Given the description of an element on the screen output the (x, y) to click on. 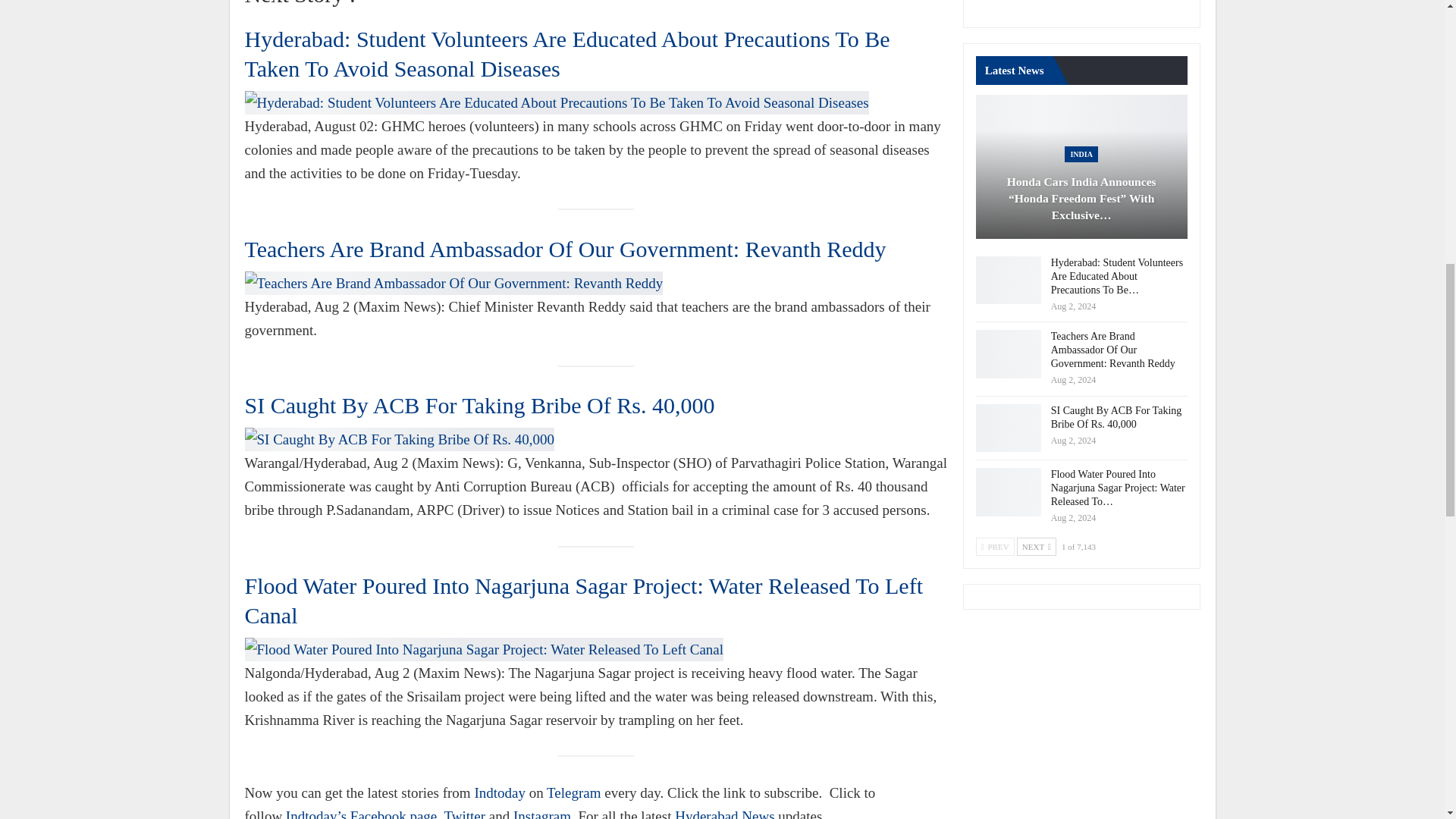
SI Caught By ACB For Taking Bribe Of Rs. 40,000 (479, 405)
